Given the description of an element on the screen output the (x, y) to click on. 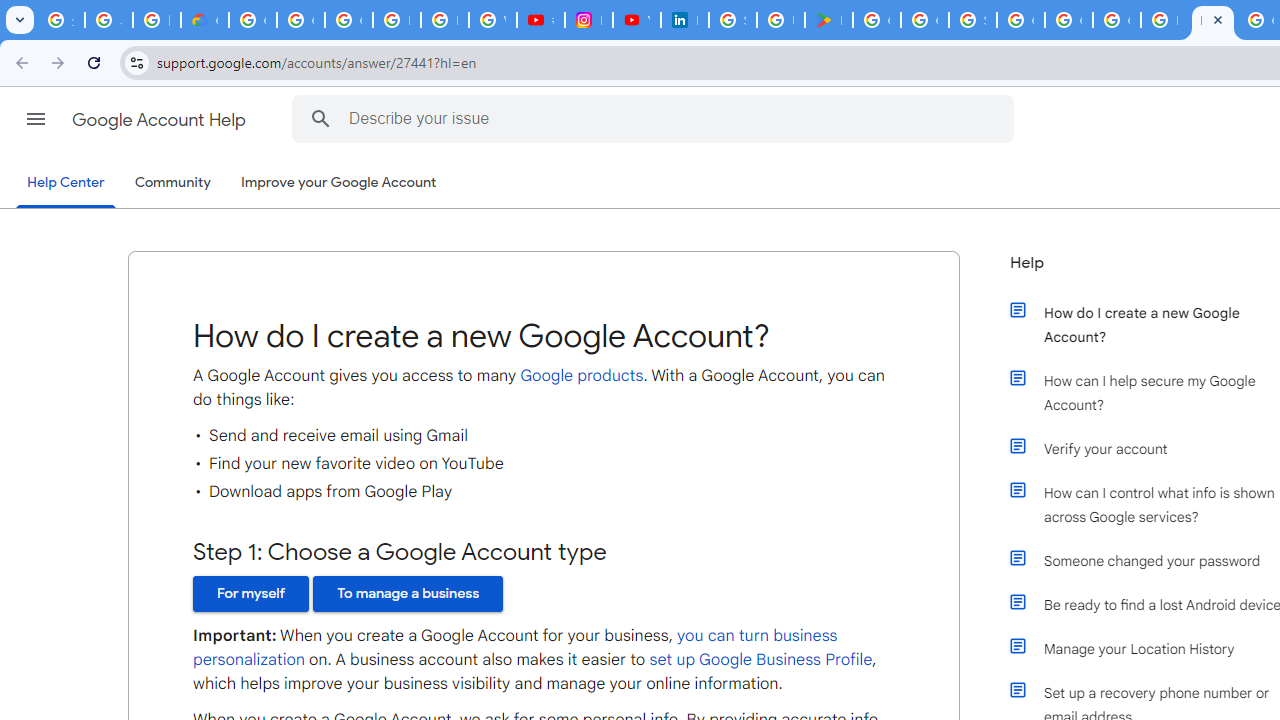
To manage a business (408, 594)
